Given the description of an element on the screen output the (x, y) to click on. 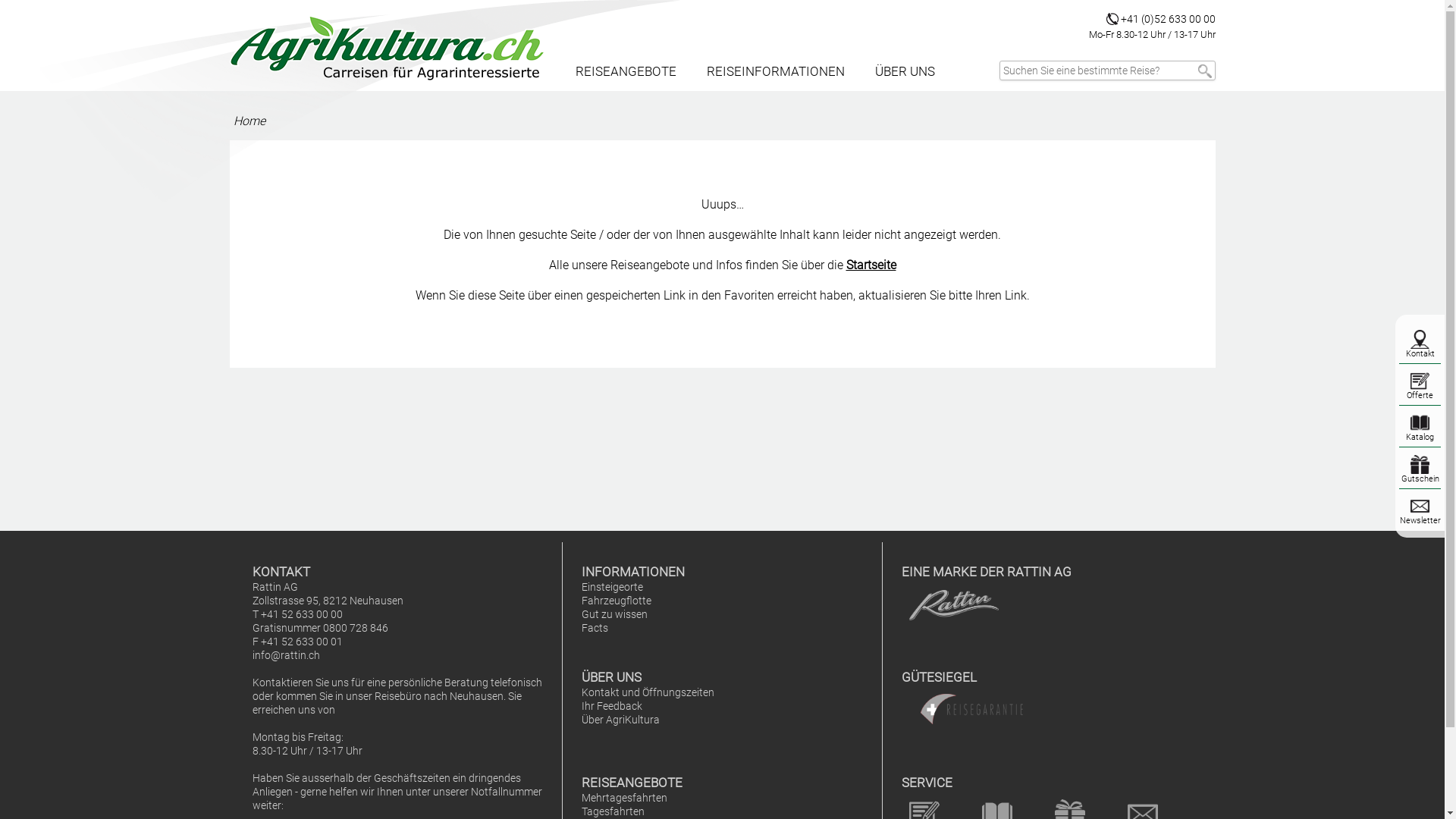
Offerte Element type: text (1419, 395)
Home Element type: text (249, 120)
REISEINFORMATIONEN Element type: text (775, 71)
Startseite Element type: text (871, 264)
Ihr Feedback Element type: text (611, 705)
REISEANGEBOTE Element type: text (624, 71)
info@rattin.ch Element type: text (285, 655)
Gut zu wissen Element type: text (614, 614)
Fahrzeugflotte Element type: text (616, 600)
Newsletter Element type: text (1419, 520)
Mehrtagesfahrten Element type: text (624, 797)
Kontakt Element type: text (1419, 353)
Einsteigeorte Element type: text (612, 586)
Tagesfahrten Element type: text (612, 811)
Facts Element type: text (594, 627)
Katalog Element type: text (1419, 437)
Gutschein Element type: text (1420, 478)
